Given the description of an element on the screen output the (x, y) to click on. 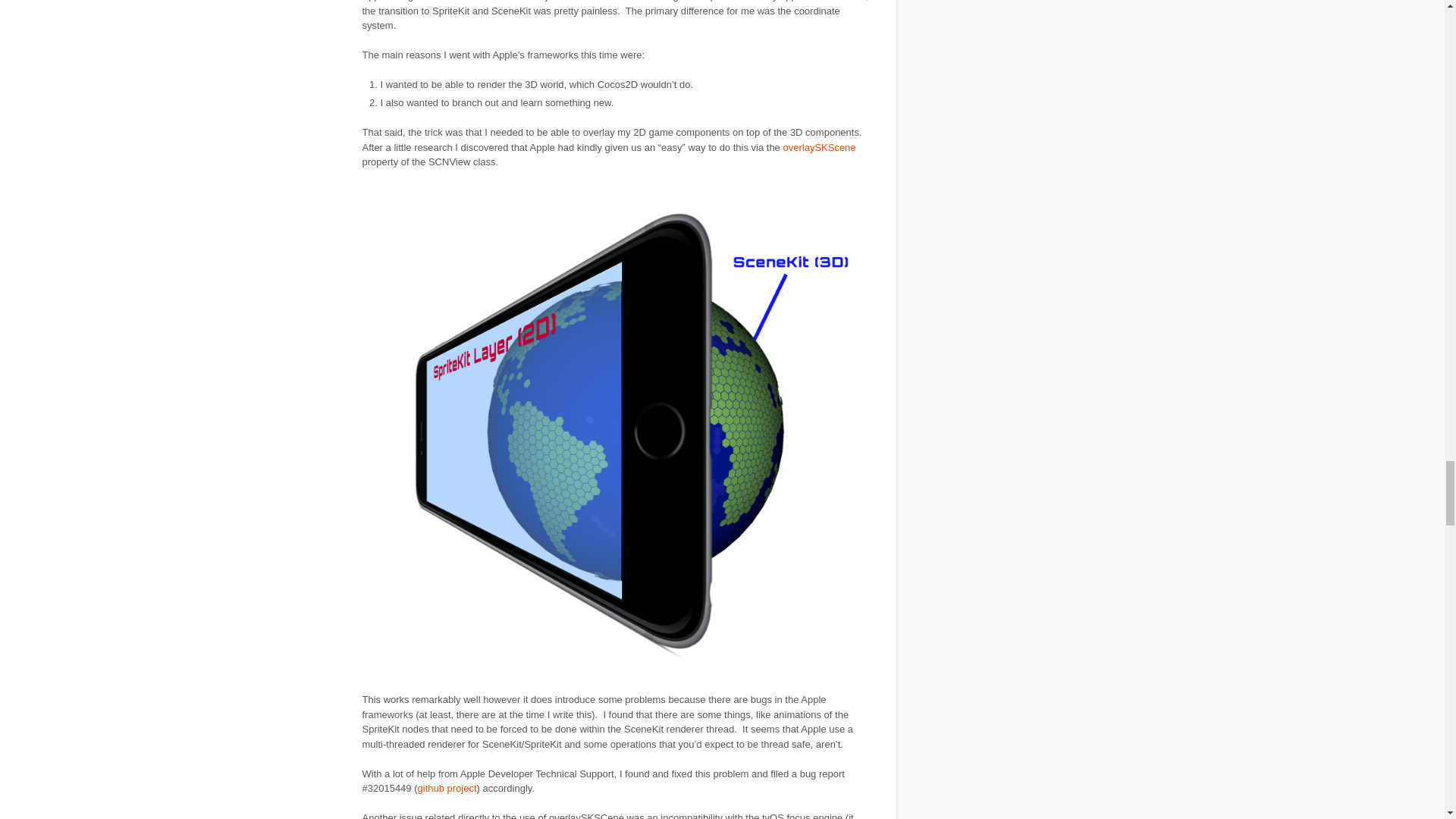
github project (447, 787)
overlaySKScene (819, 147)
